Given the description of an element on the screen output the (x, y) to click on. 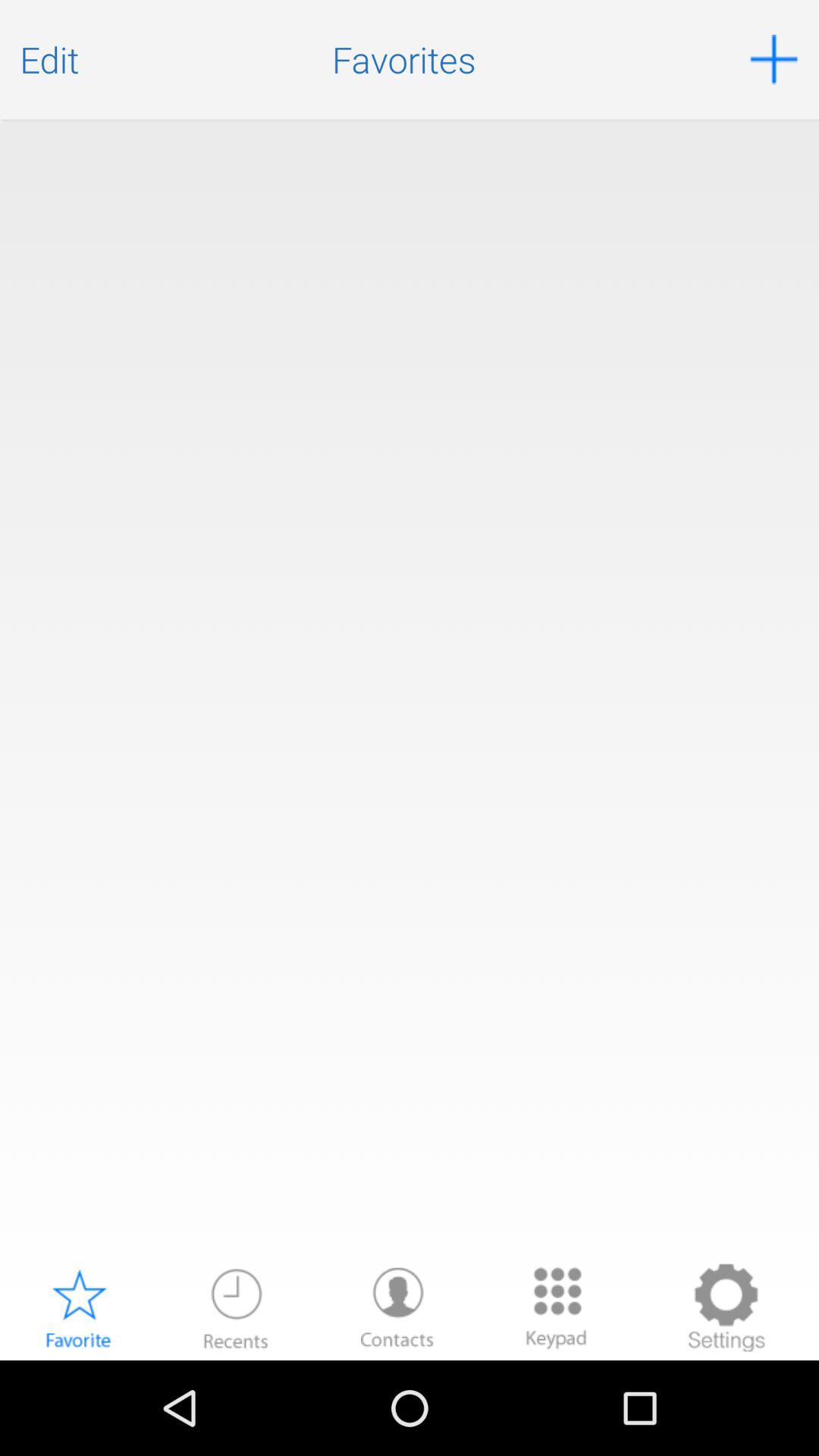
go to favorites (78, 1307)
